Given the description of an element on the screen output the (x, y) to click on. 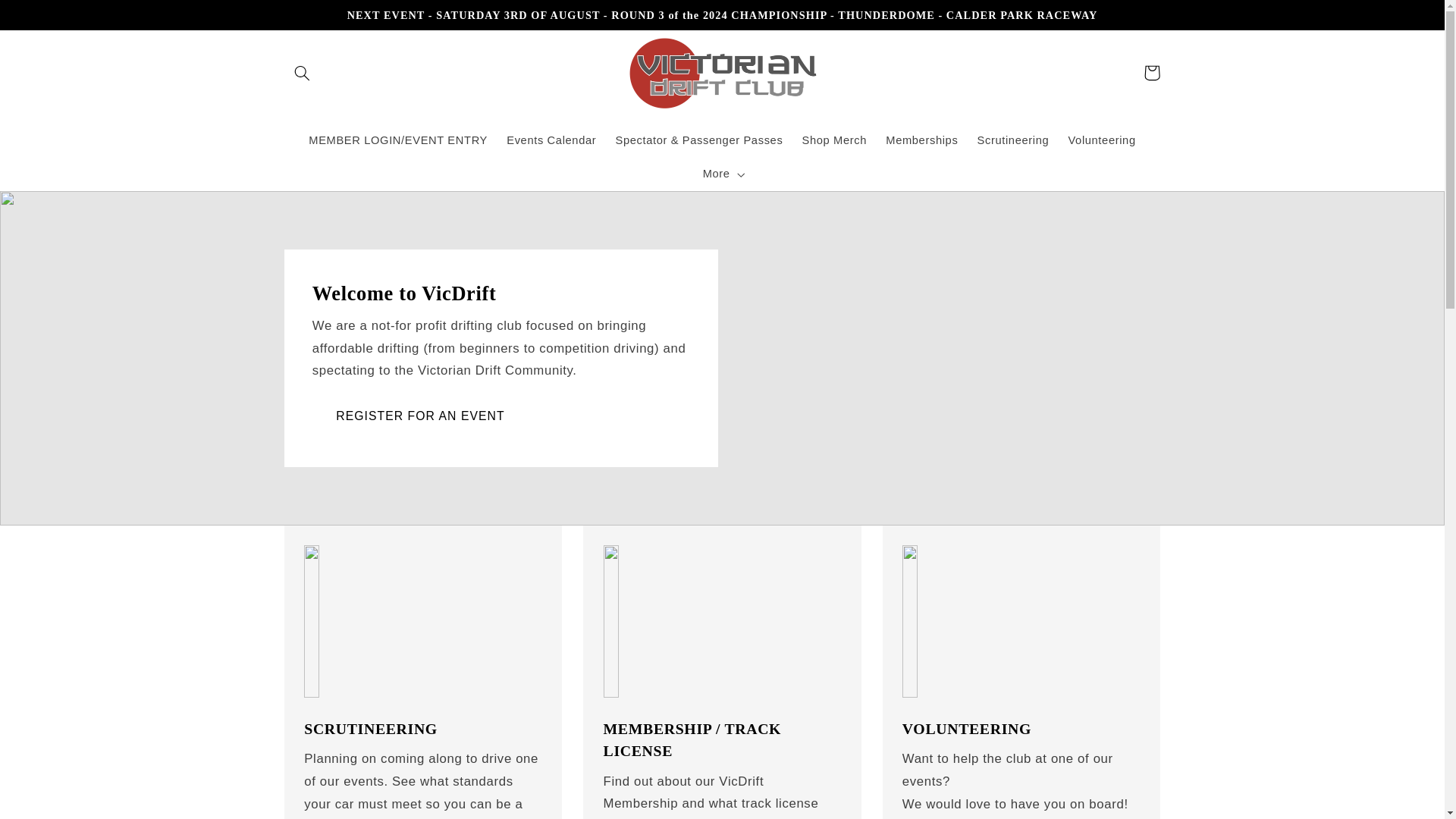
Events Calendar (551, 141)
Memberships (922, 141)
Volunteering (1101, 141)
Skip to content (48, 18)
Shop Merch (834, 141)
Scrutineering (1013, 141)
